Given the description of an element on the screen output the (x, y) to click on. 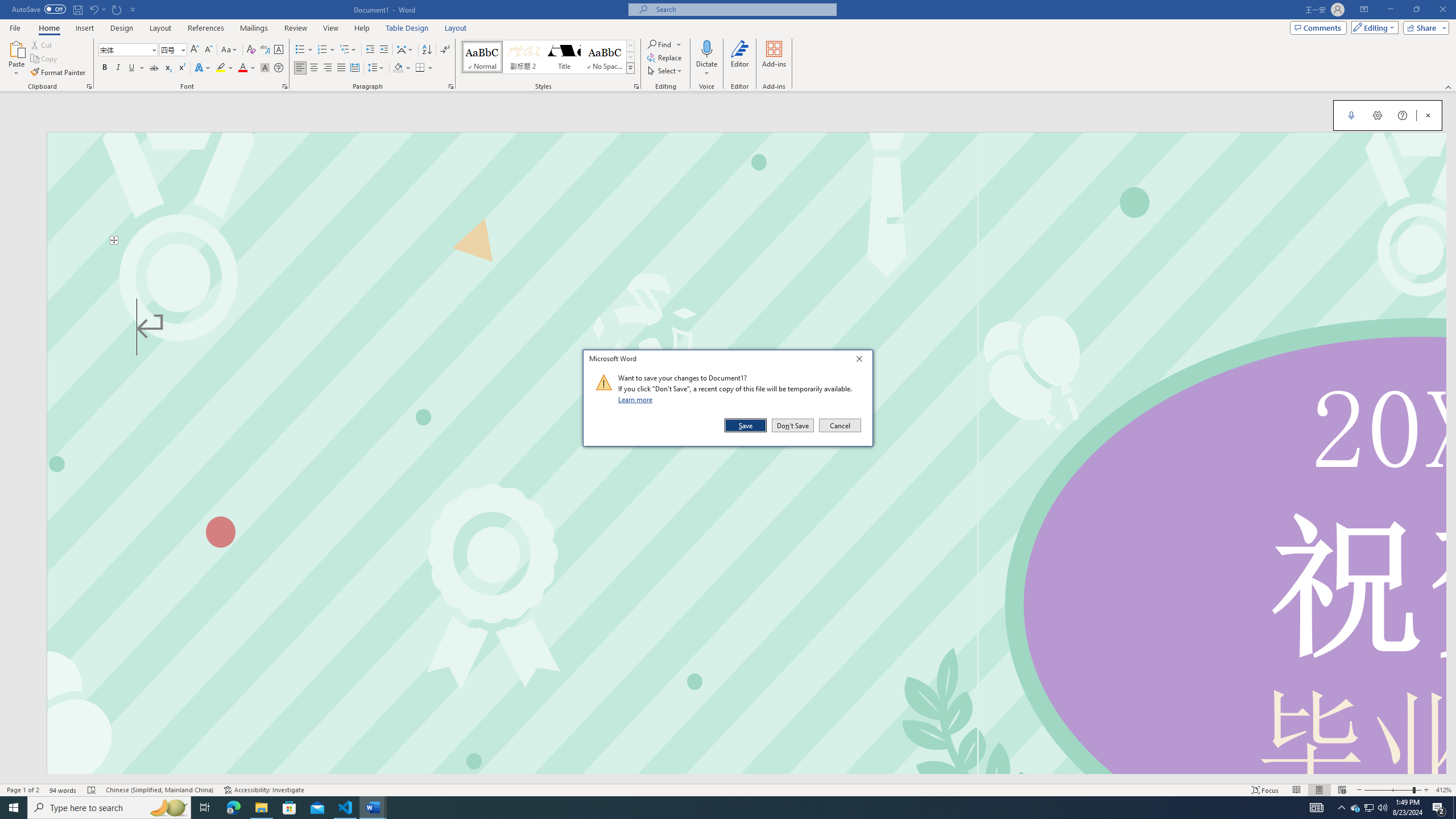
Font Color Red (241, 67)
